Given the description of an element on the screen output the (x, y) to click on. 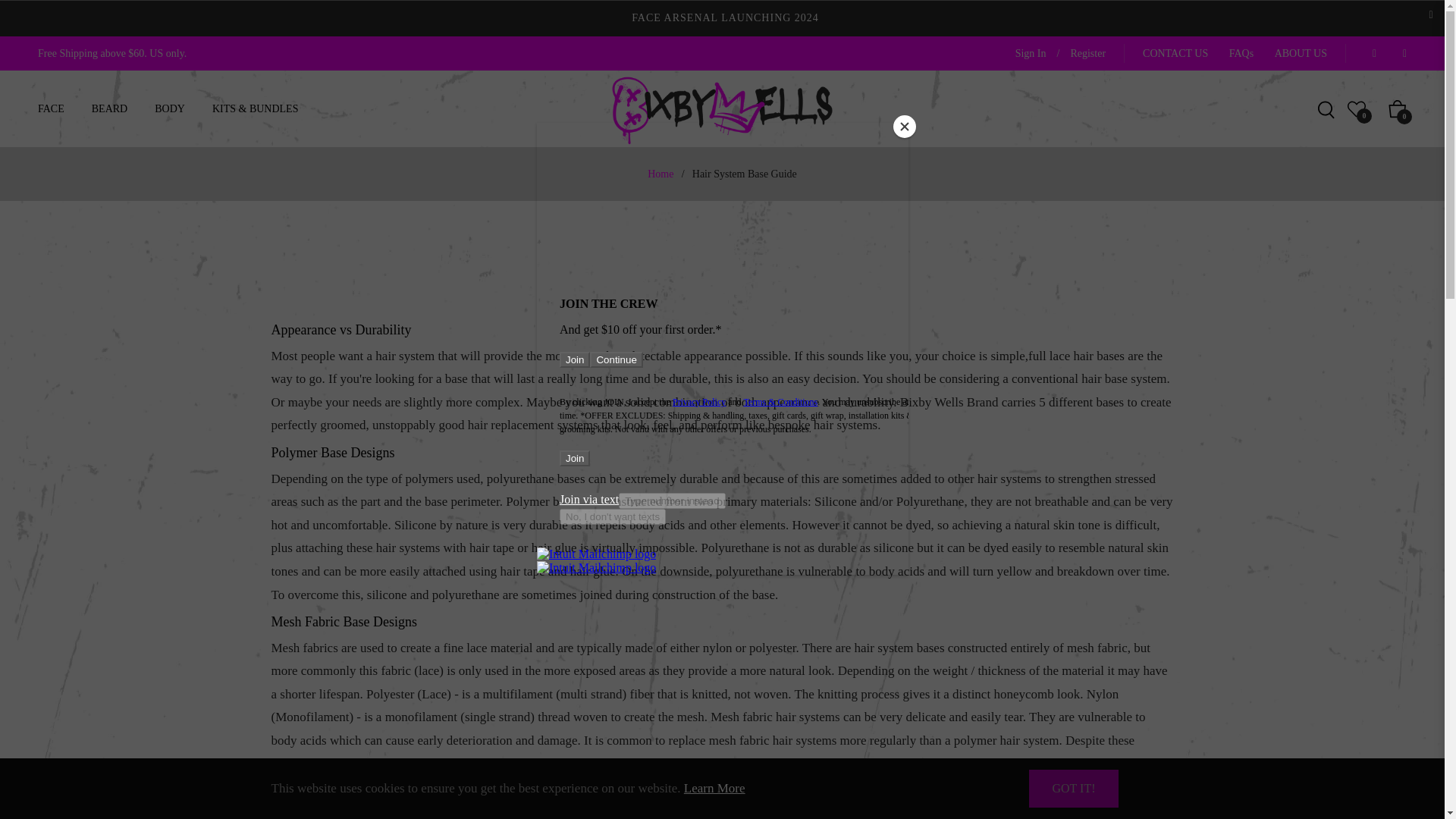
Home (660, 174)
FAQs (1240, 52)
Wishlist (1356, 108)
Home (660, 174)
Register (1087, 53)
Sign In (1030, 53)
CONTACT US (1175, 52)
ABOUT US (1300, 52)
0 (1356, 108)
Shopping Cart (1397, 108)
Bixby Wells Brand on Instagram (1400, 52)
Bixby Wells Brand on Facebook (1369, 52)
